Given the description of an element on the screen output the (x, y) to click on. 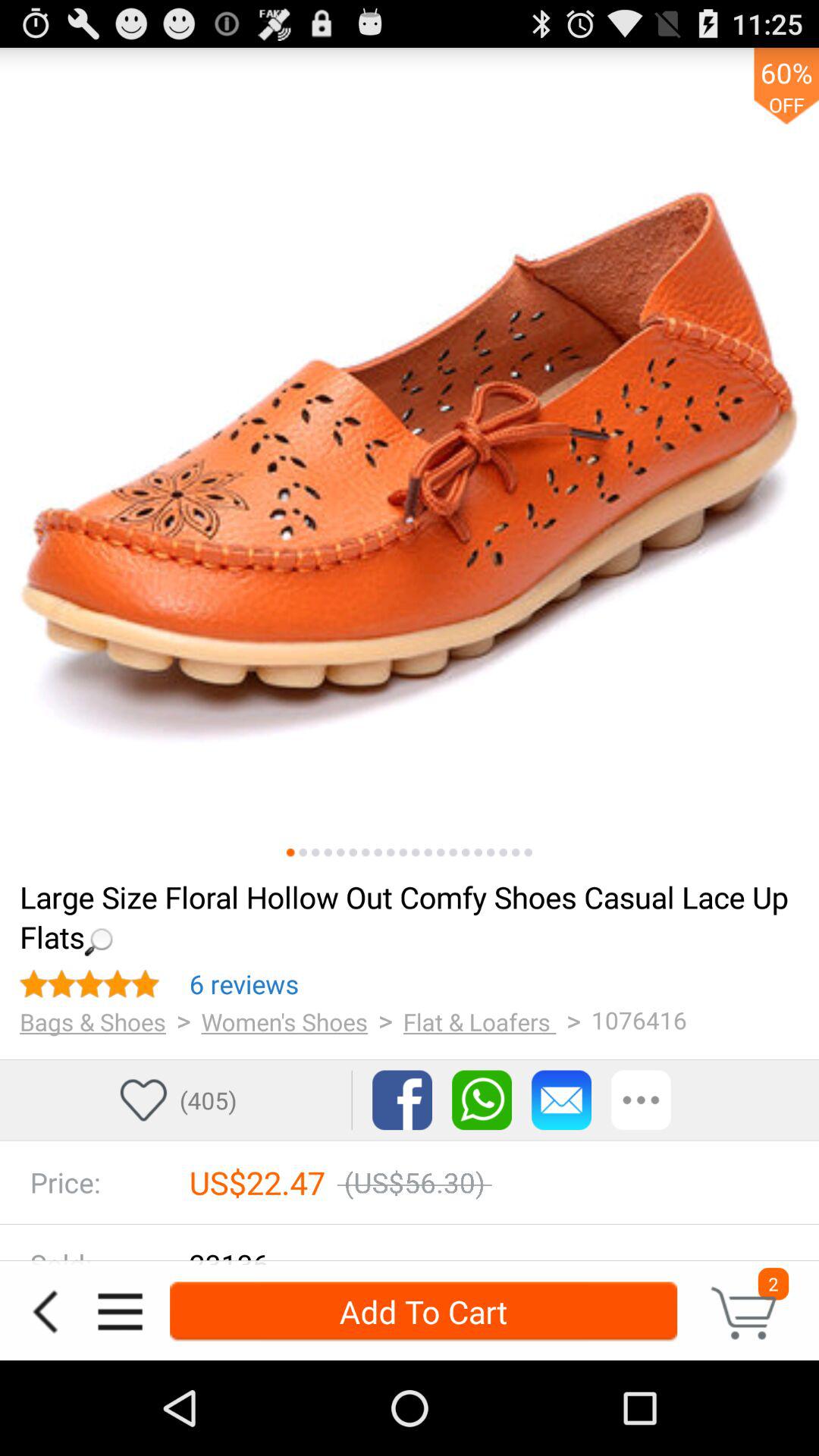
product view (409, 456)
